Given the description of an element on the screen output the (x, y) to click on. 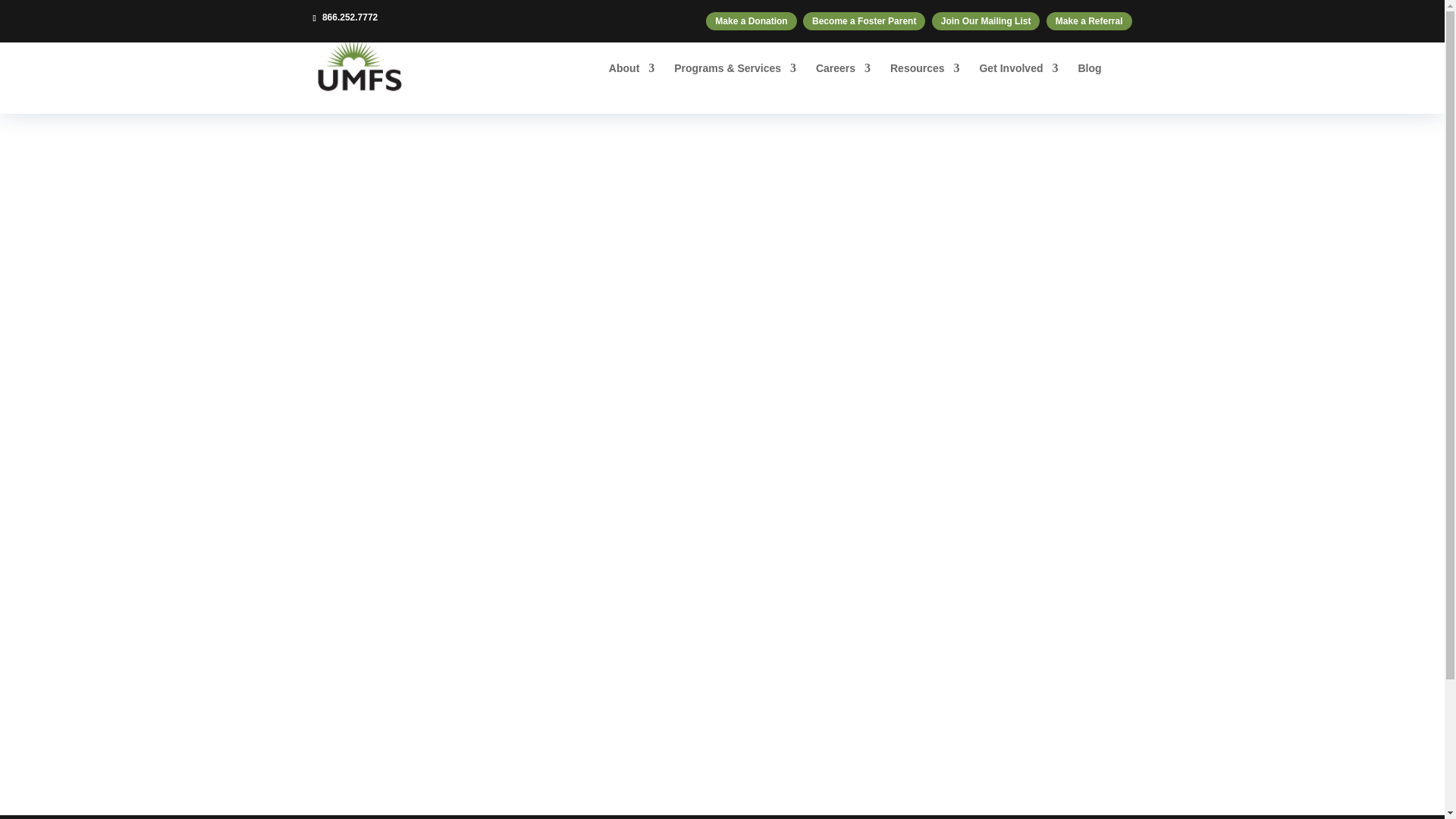
Make a Referral (1089, 21)
Careers (842, 80)
Make a Donation (751, 21)
Join Our Mailing List (986, 21)
About (630, 80)
Become a Foster Parent (863, 21)
